Given the description of an element on the screen output the (x, y) to click on. 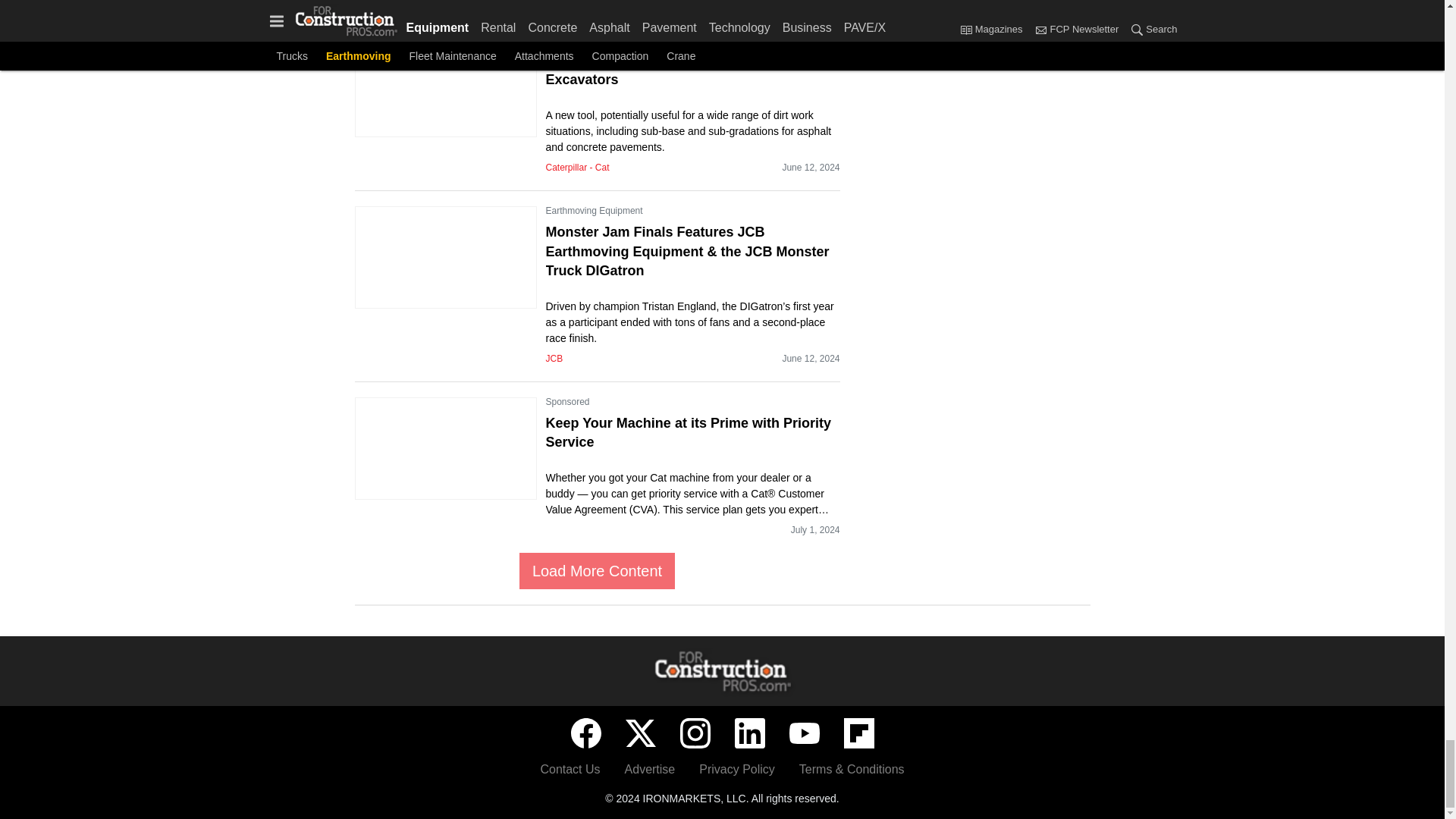
YouTube icon (803, 733)
LinkedIn icon (748, 733)
Twitter X icon (639, 733)
Instagram icon (694, 733)
Flipboard icon (858, 733)
Facebook icon (584, 733)
